Given the description of an element on the screen output the (x, y) to click on. 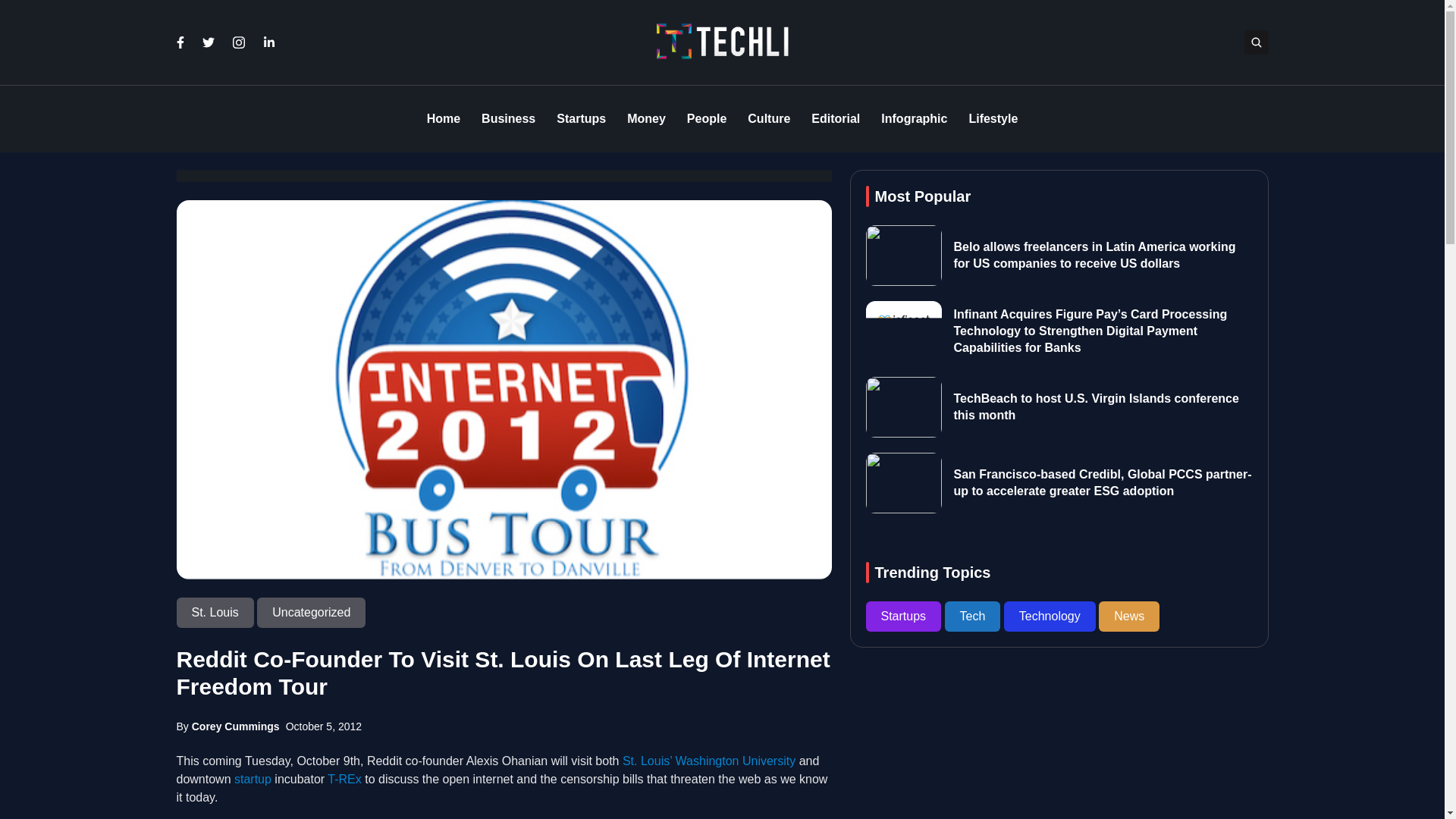
T-REx (344, 779)
Editorial (835, 119)
People (706, 119)
Money (646, 119)
Uncategorized (311, 612)
Washington University (735, 760)
Corey Cummings (235, 726)
Business (508, 119)
Infographic (913, 119)
Lifestyle (992, 119)
